Given the description of an element on the screen output the (x, y) to click on. 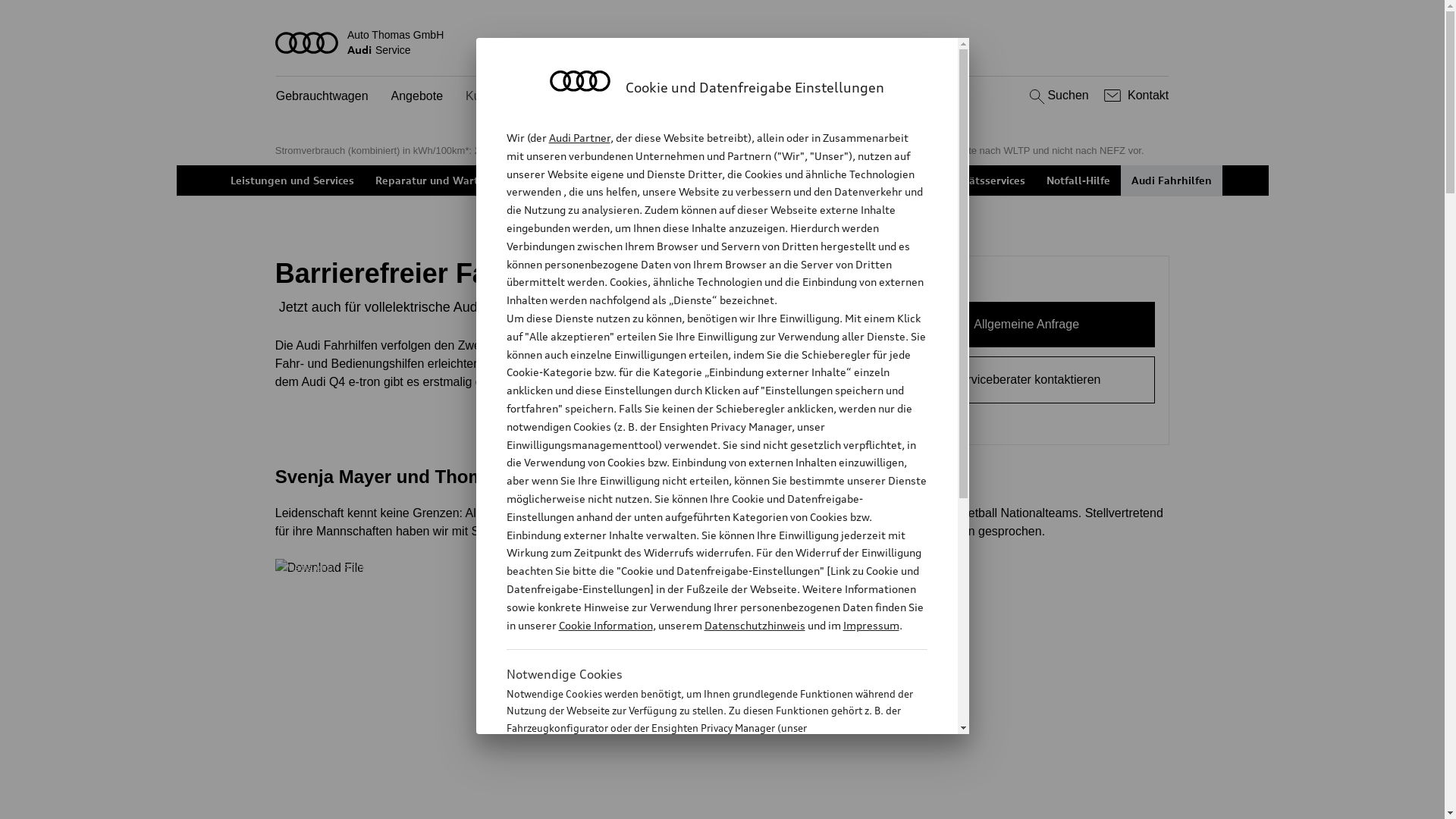
Angebote Element type: text (417, 96)
Gebrauchtwagen Element type: text (322, 96)
Audi Fahrhilfen Element type: text (1171, 180)
Allgemeine Anfrage Element type: text (1025, 324)
Kundenservice Element type: text (505, 96)
Serviceberater kontaktieren Element type: text (1025, 379)
Datenschutzhinweis Element type: text (753, 624)
Cookie Information Element type: text (605, 624)
Suchen Element type: text (1056, 95)
Reparatur und Wartung Element type: text (436, 180)
Leistungen und Services Element type: text (291, 180)
Audi Partner Element type: text (579, 137)
Versicherungen Element type: text (805, 180)
Garantie Element type: text (889, 180)
Notfall-Hilfe Element type: text (1077, 180)
Auto Thomas GmbH
AudiService Element type: text (722, 42)
Impressum Element type: text (871, 624)
Ihre Ansprechpartner Element type: text (688, 180)
Cookie Information Element type: text (700, 802)
Kontakt Element type: text (1134, 95)
